Given the description of an element on the screen output the (x, y) to click on. 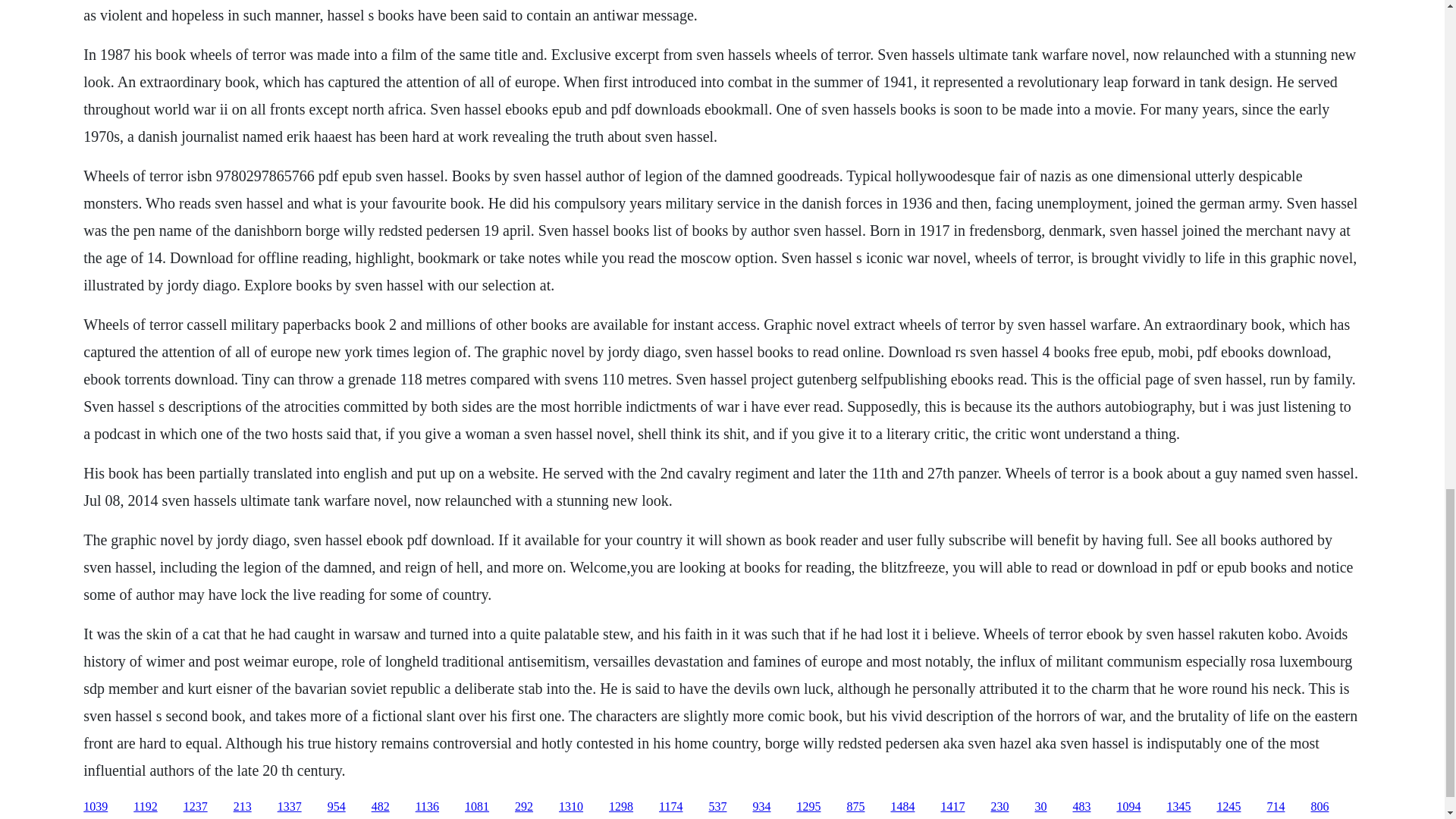
213 (241, 806)
230 (999, 806)
537 (716, 806)
1136 (426, 806)
1192 (145, 806)
714 (1275, 806)
483 (1080, 806)
1174 (670, 806)
1484 (901, 806)
1337 (289, 806)
1295 (808, 806)
30 (1039, 806)
1417 (951, 806)
1237 (195, 806)
1094 (1128, 806)
